Given the description of an element on the screen output the (x, y) to click on. 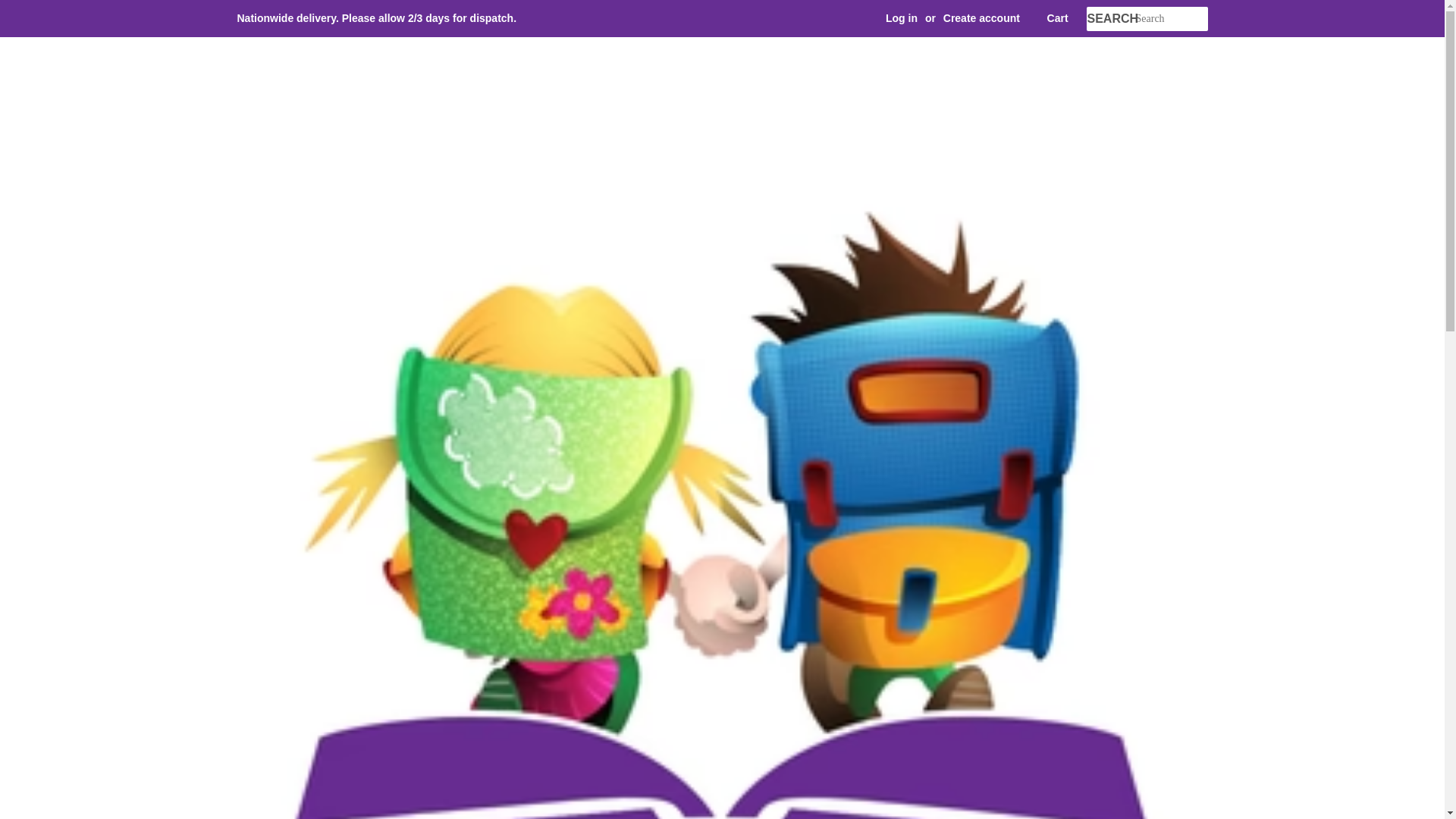
Create account (981, 18)
Log in (901, 18)
SEARCH (1110, 18)
Cart (1057, 18)
